Given the description of an element on the screen output the (x, y) to click on. 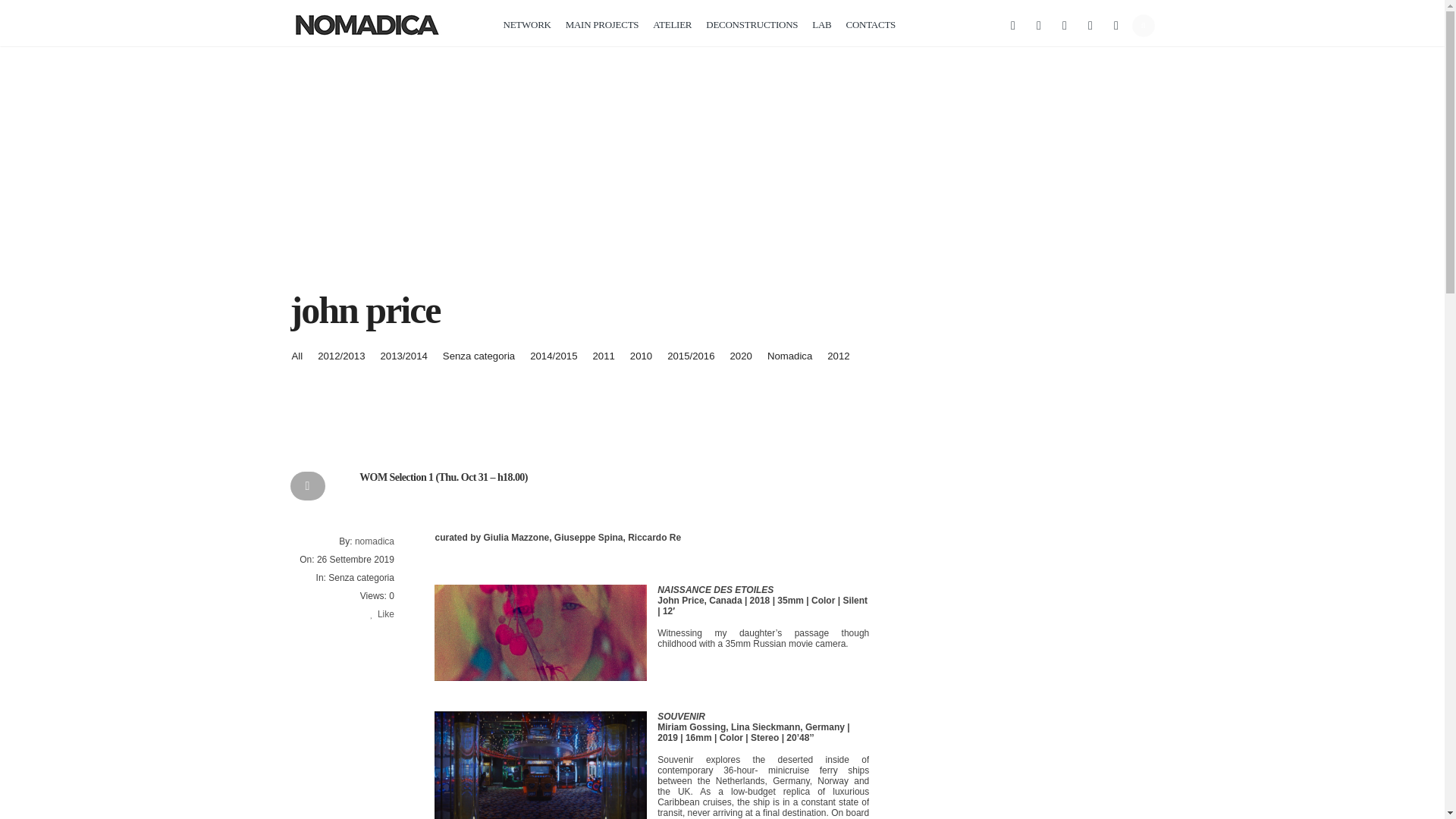
Senza categoria (478, 355)
ATELIER (672, 25)
Type and hit enter... (1143, 24)
Vimeo (1114, 24)
CONTACTS (870, 25)
Like (381, 614)
nomadica (374, 541)
Nomadica (789, 355)
Twitter (1037, 24)
You Tube (1090, 24)
